Given the description of an element on the screen output the (x, y) to click on. 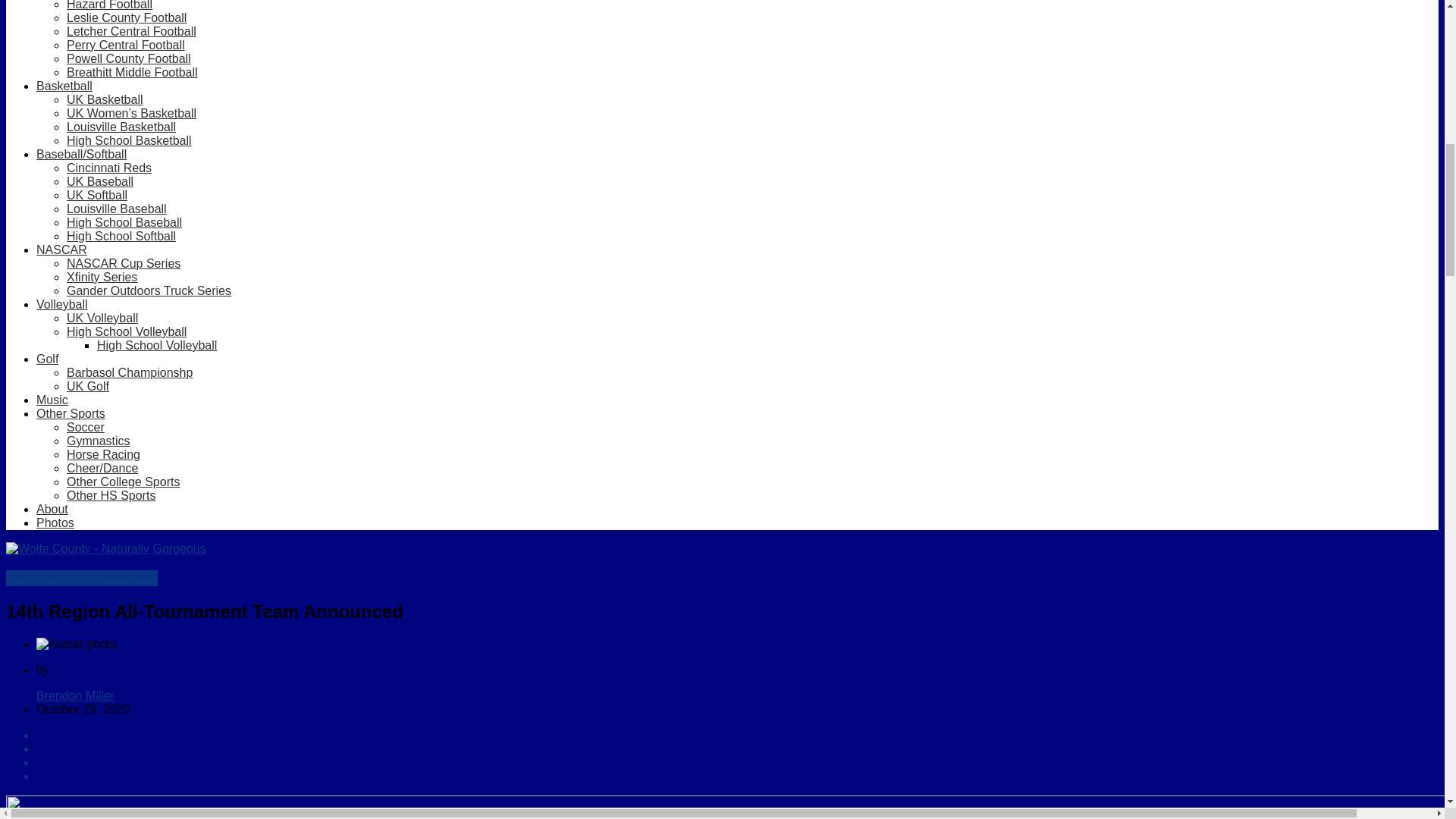
Posts by Brendon Miller (75, 695)
